Given the description of an element on the screen output the (x, y) to click on. 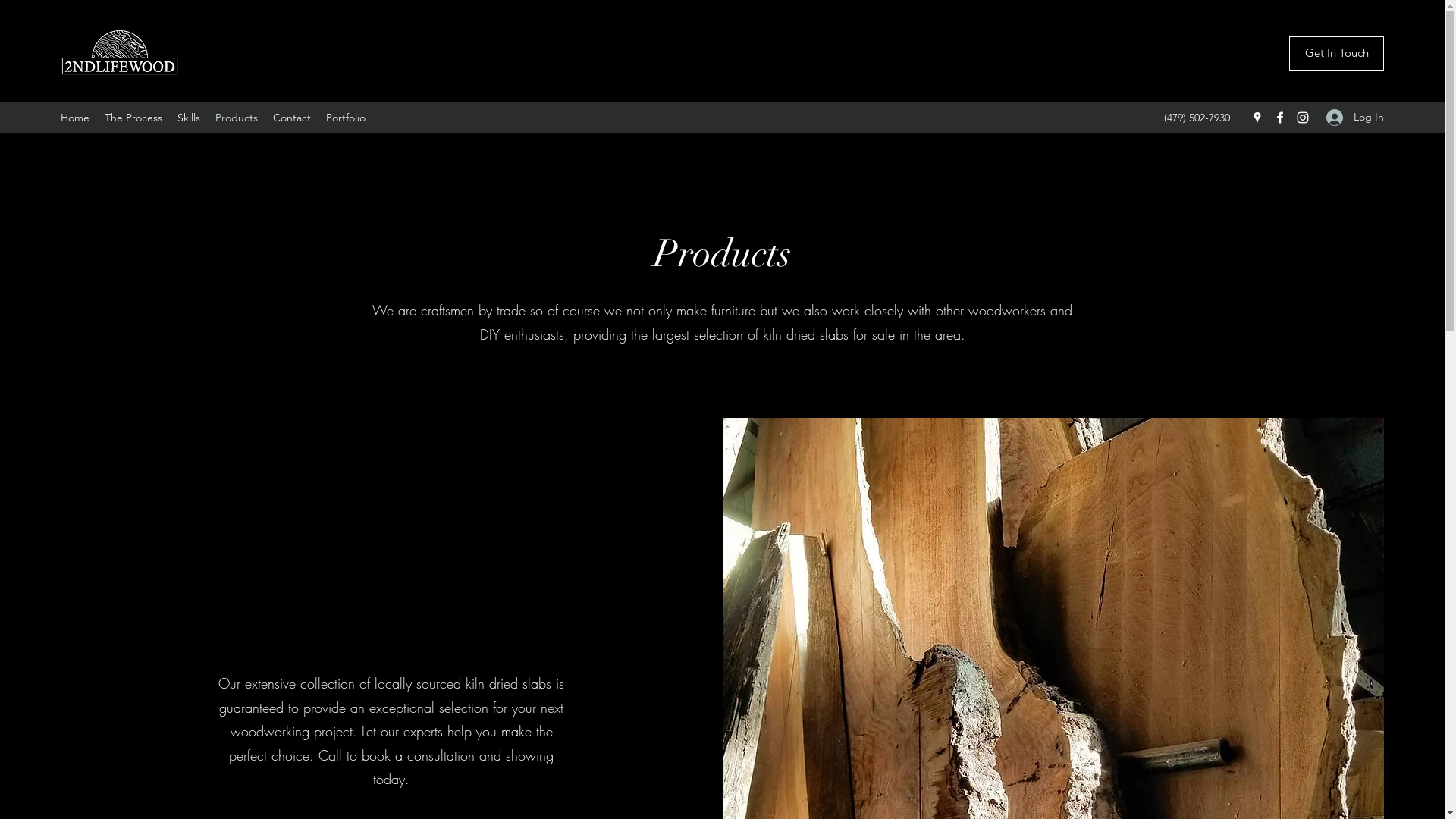
Skills Element type: text (188, 117)
Log In Element type: text (1349, 117)
Portfolio Element type: text (345, 117)
Products Element type: text (236, 117)
Get In Touch Element type: text (1336, 53)
Contact Element type: text (291, 117)
Home Element type: text (75, 117)
The Process Element type: text (133, 117)
